Given the description of an element on the screen output the (x, y) to click on. 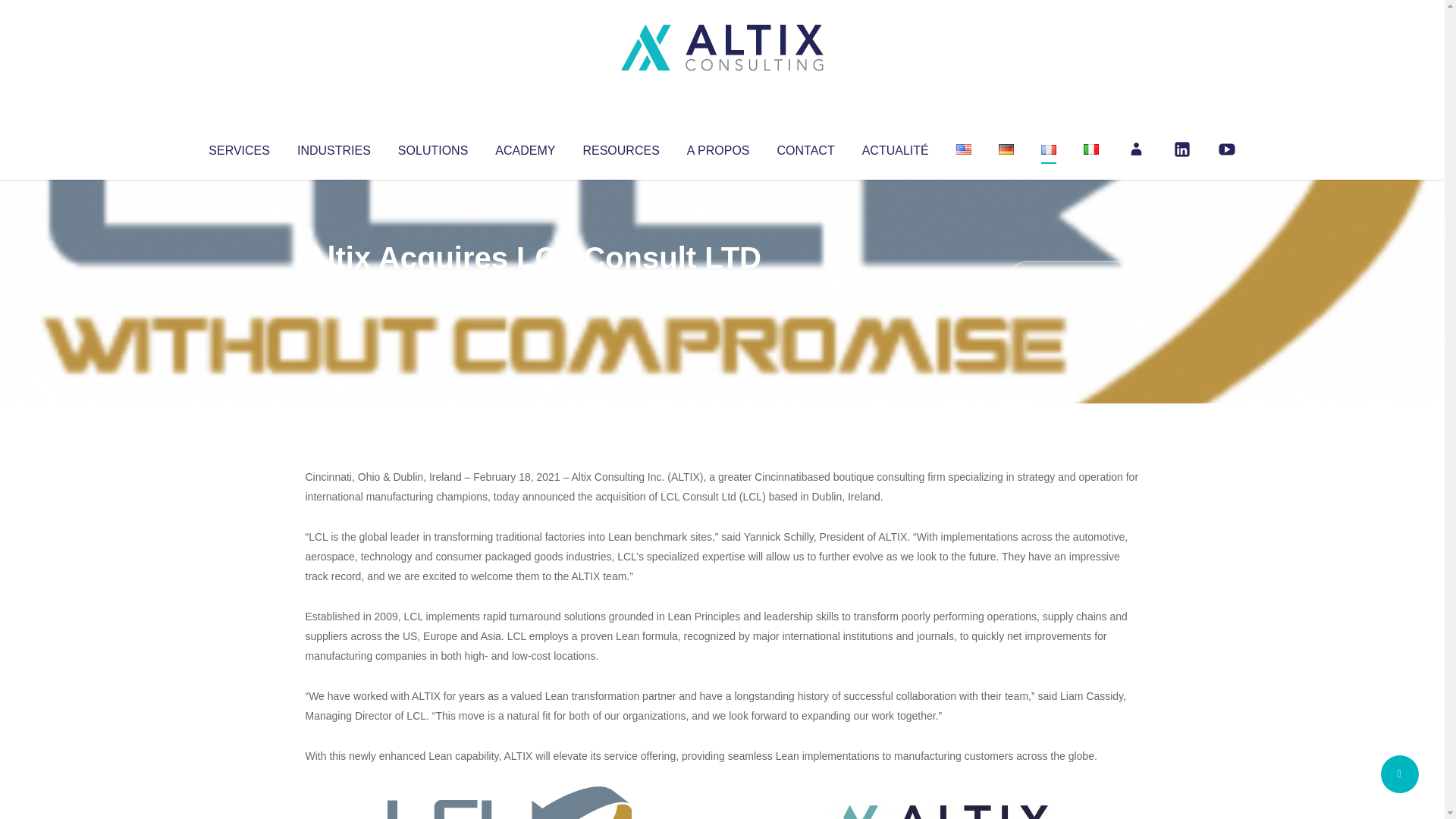
Articles par Altix (333, 287)
No Comments (1073, 278)
Altix (333, 287)
INDUSTRIES (334, 146)
Uncategorized (530, 287)
SERVICES (238, 146)
A PROPOS (718, 146)
SOLUTIONS (432, 146)
RESOURCES (620, 146)
ACADEMY (524, 146)
